Given the description of an element on the screen output the (x, y) to click on. 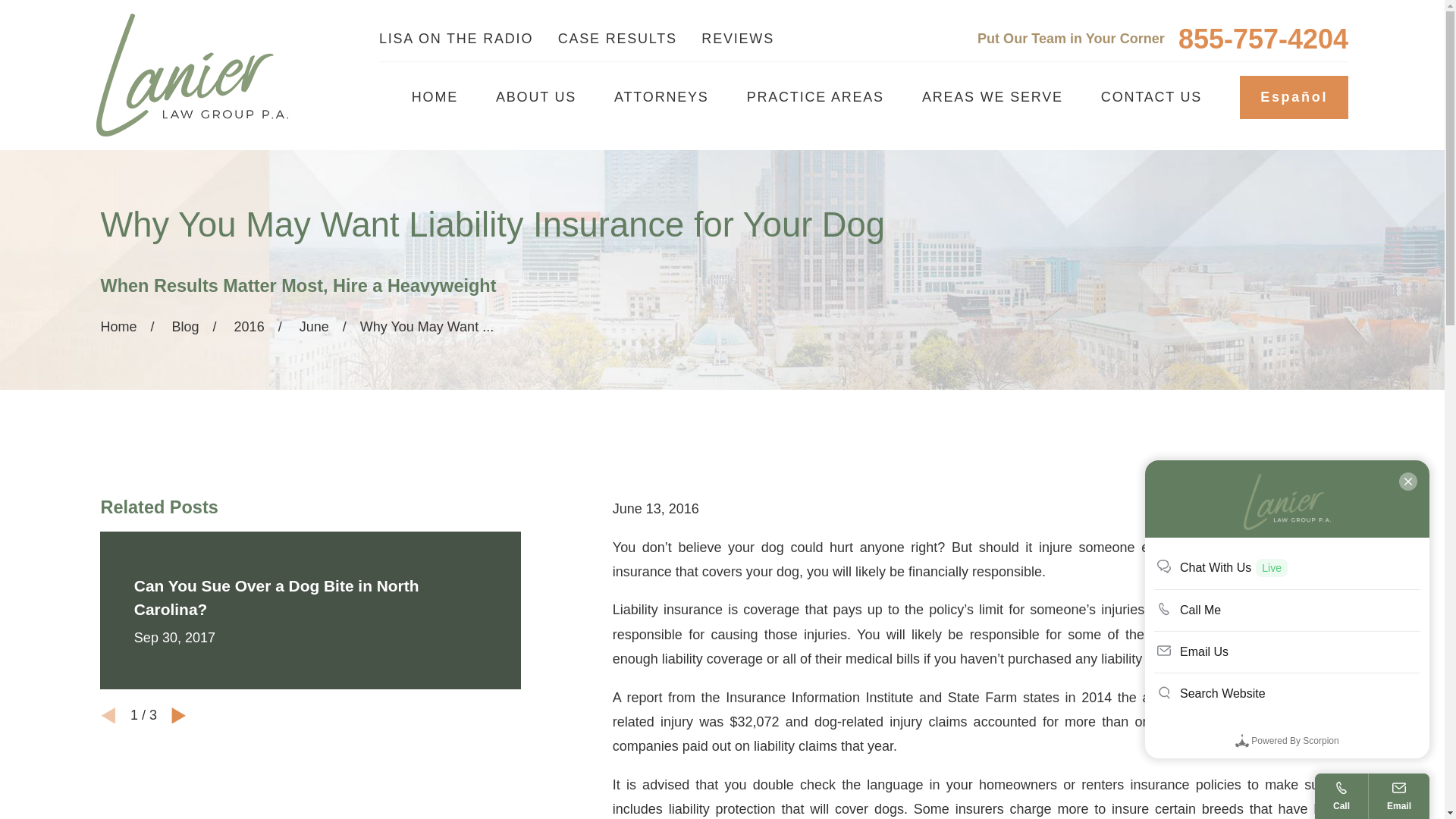
Lanier Law Group, P.A. (192, 74)
Go Home (118, 326)
HOME (435, 97)
View next item (178, 715)
View previous item (108, 715)
REVIEWS (737, 38)
CASE RESULTS (617, 38)
ABOUT US (536, 97)
Home (192, 74)
PRACTICE AREAS (814, 97)
855-757-4204 (1262, 39)
ATTORNEYS (661, 97)
LISA ON THE RADIO (455, 38)
